Given the description of an element on the screen output the (x, y) to click on. 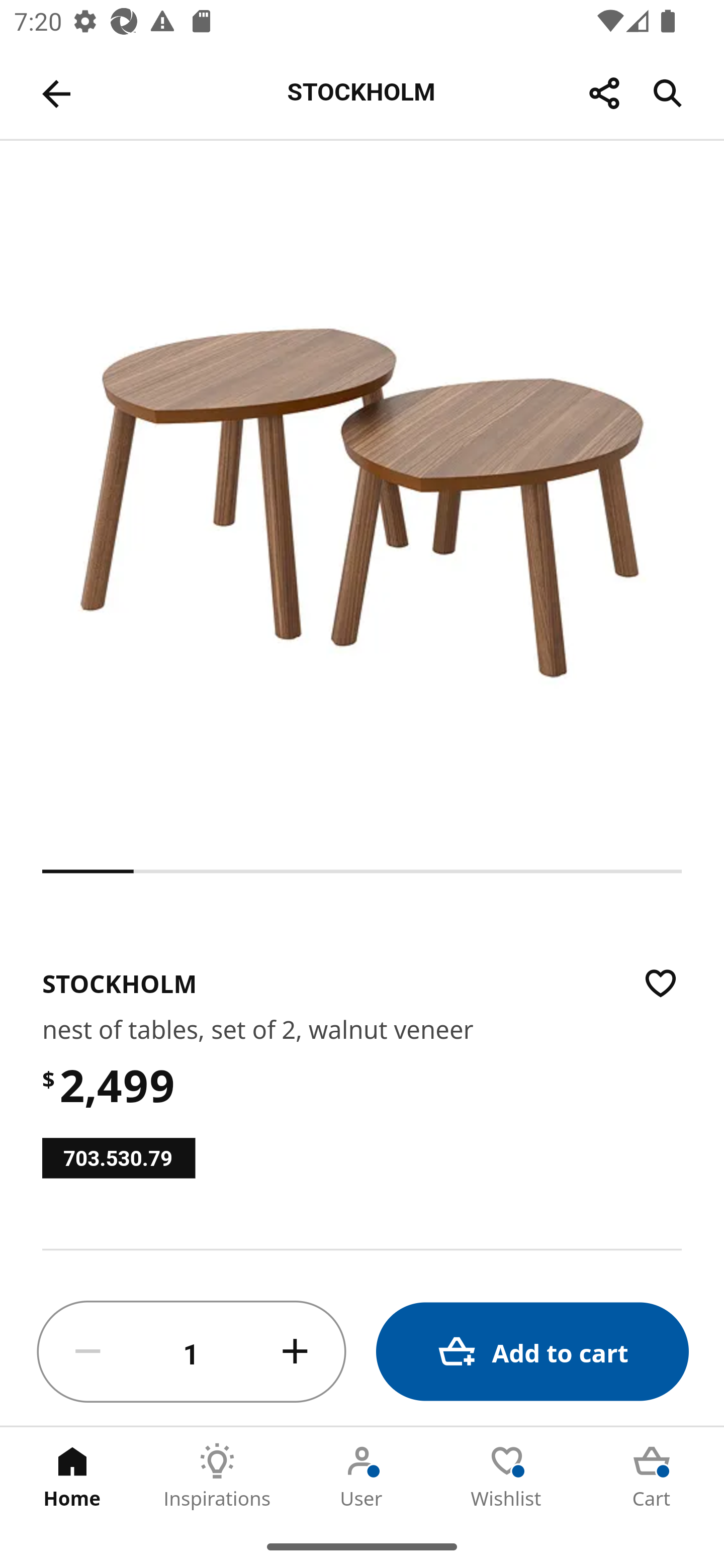
Add to cart (531, 1352)
1 (191, 1352)
Home
Tab 1 of 5 (72, 1476)
Inspirations
Tab 2 of 5 (216, 1476)
User
Tab 3 of 5 (361, 1476)
Wishlist
Tab 4 of 5 (506, 1476)
Cart
Tab 5 of 5 (651, 1476)
